Given the description of an element on the screen output the (x, y) to click on. 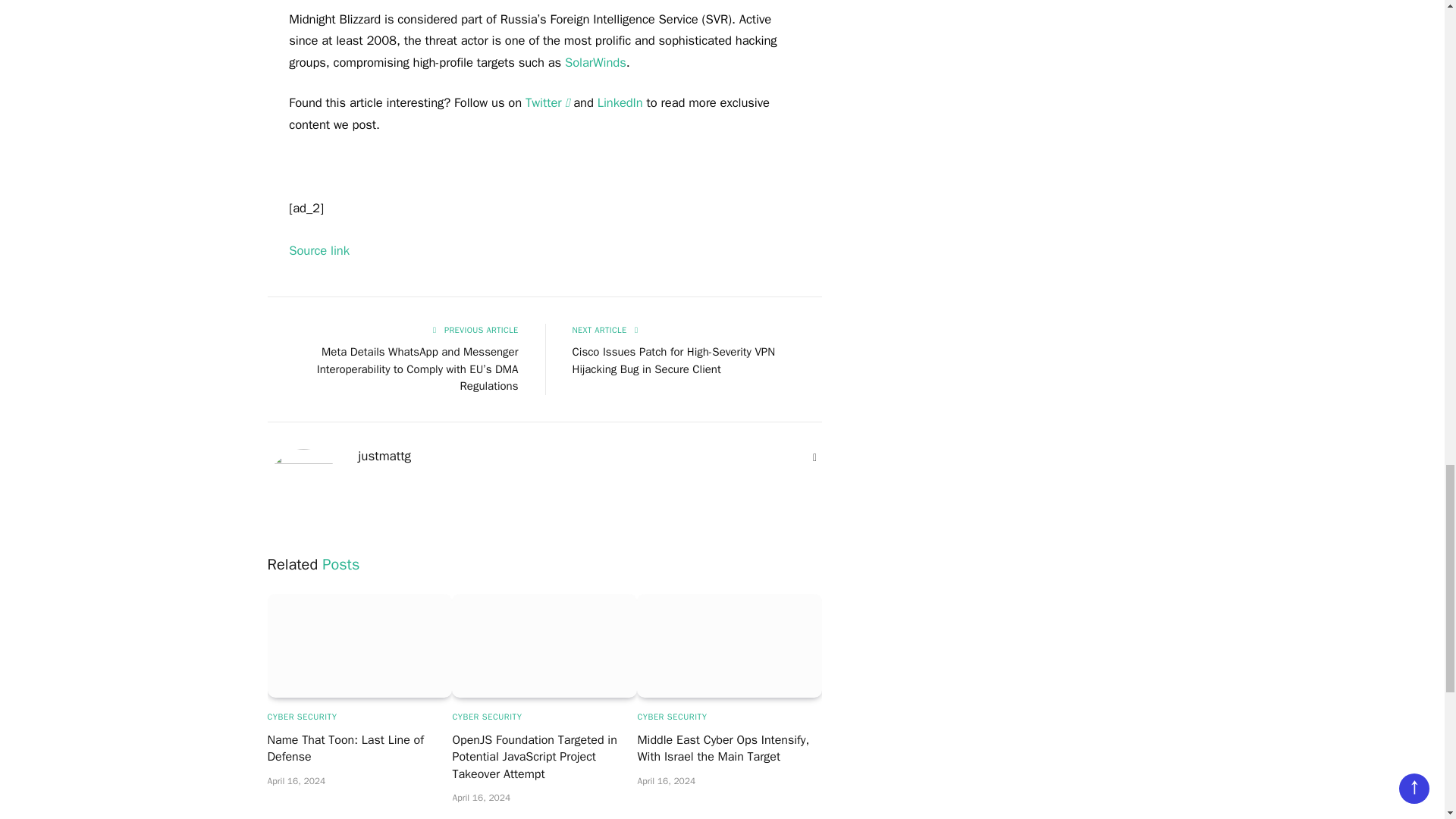
Source link (318, 250)
Posts by justmattg (384, 456)
SolarWinds (595, 62)
LinkedIn (619, 102)
